Given the description of an element on the screen output the (x, y) to click on. 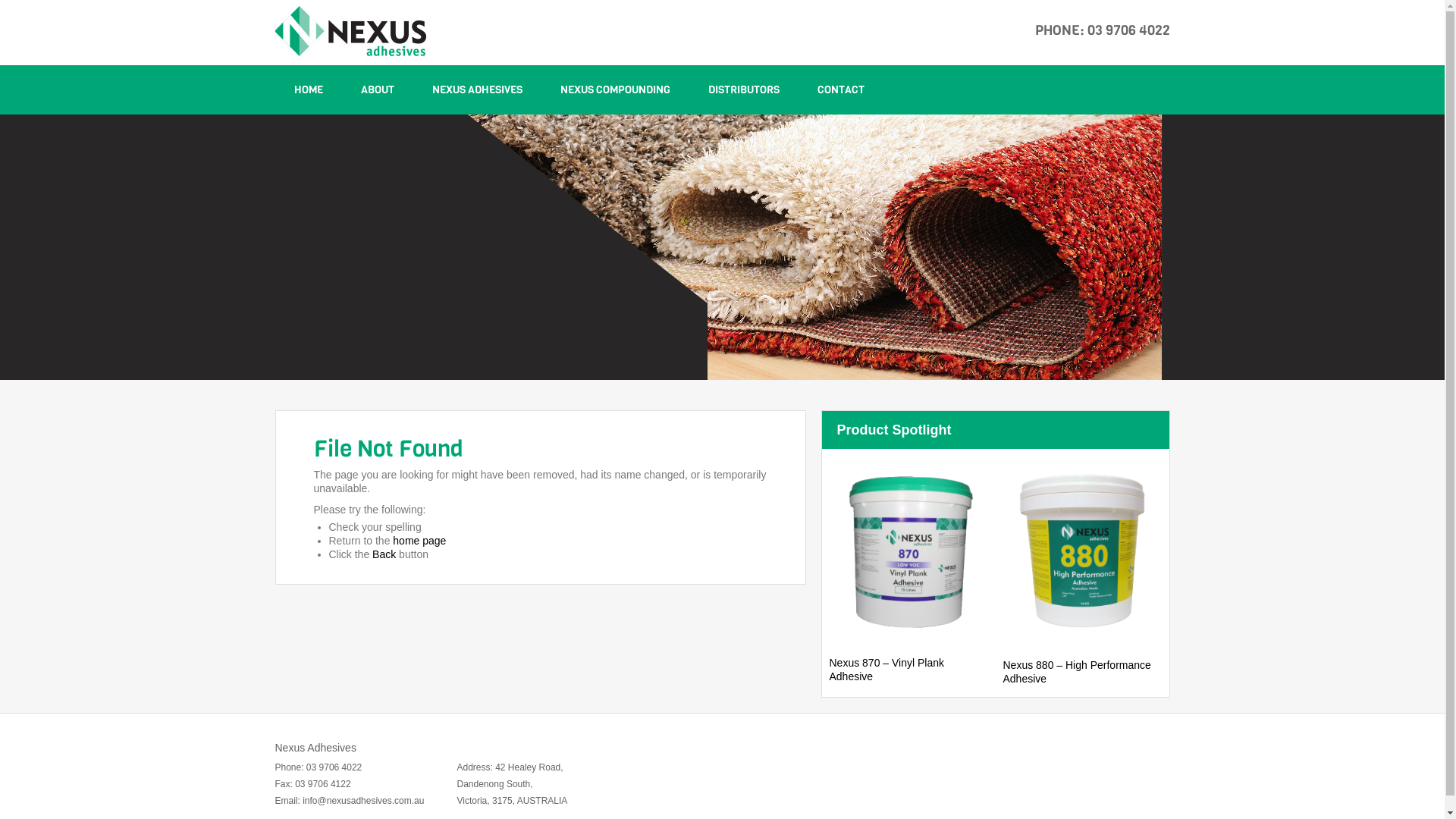
CONTACT Element type: text (839, 89)
DISTRIBUTORS Element type: text (742, 89)
Back Element type: text (383, 554)
NEXUS COMPOUNDING Element type: text (615, 89)
ABOUT Element type: text (376, 89)
HOME Element type: text (307, 89)
NEXUS ADHESIVES Element type: text (476, 89)
home page Element type: text (418, 540)
